Given the description of an element on the screen output the (x, y) to click on. 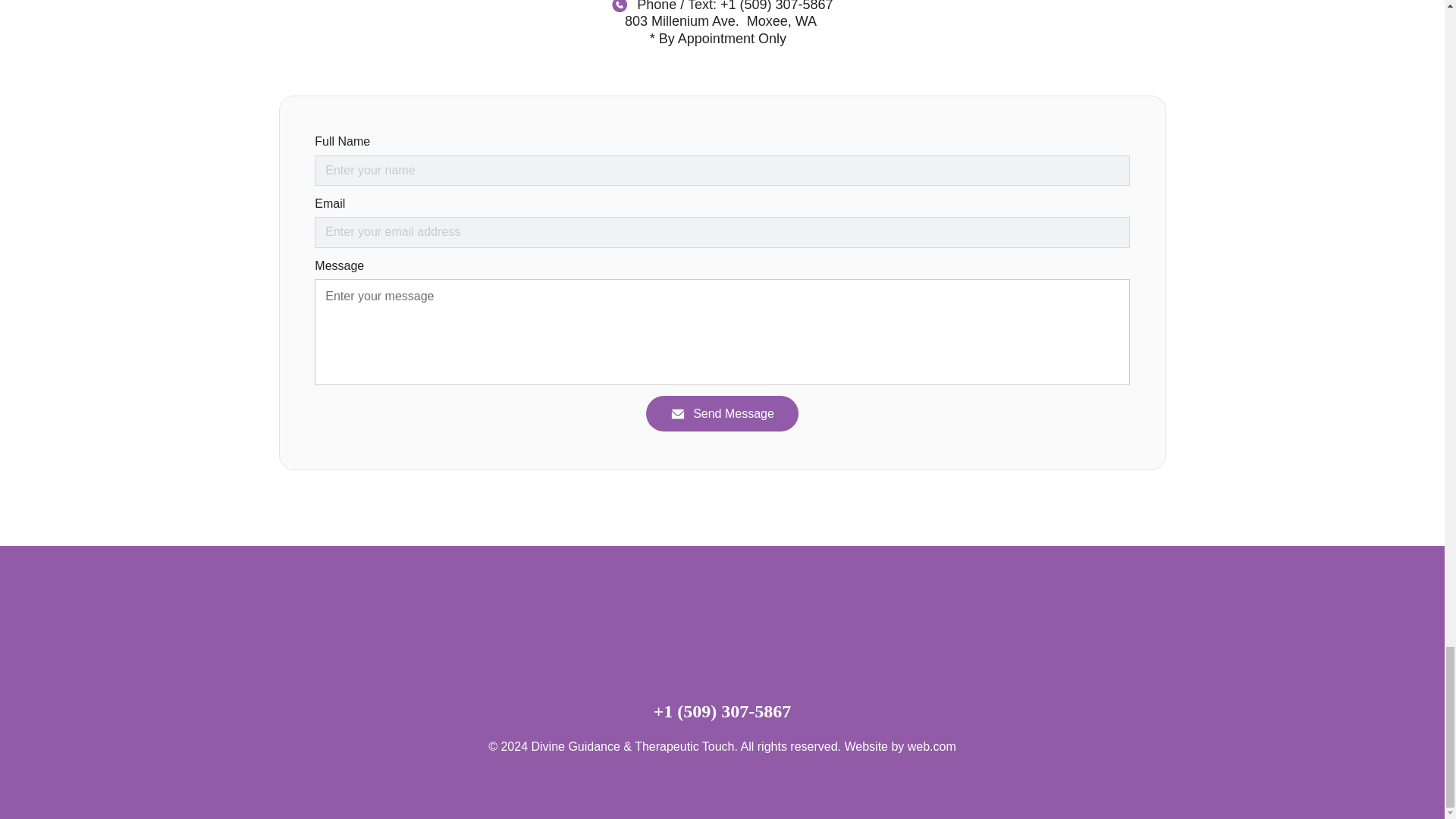
Send Message (721, 413)
